Given the description of an element on the screen output the (x, y) to click on. 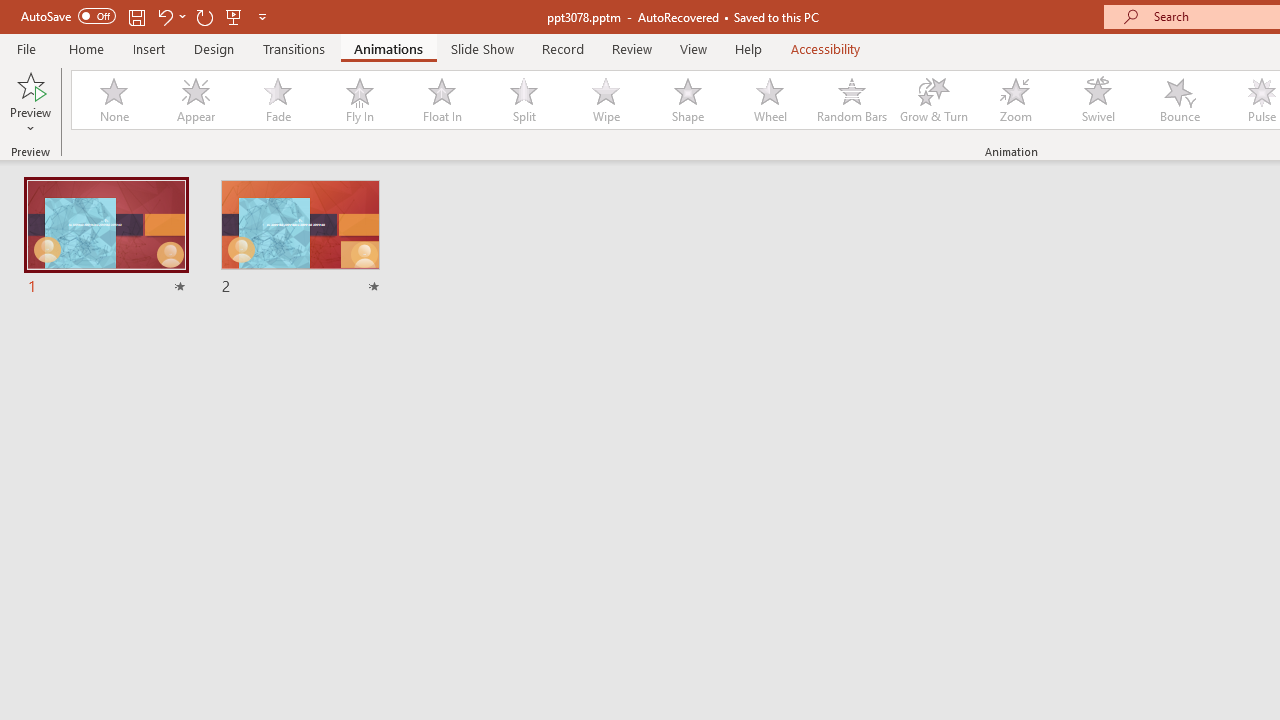
Fly In (359, 100)
Split (523, 100)
Shape (687, 100)
Random Bars (852, 100)
Swivel (1098, 100)
